Given the description of an element on the screen output the (x, y) to click on. 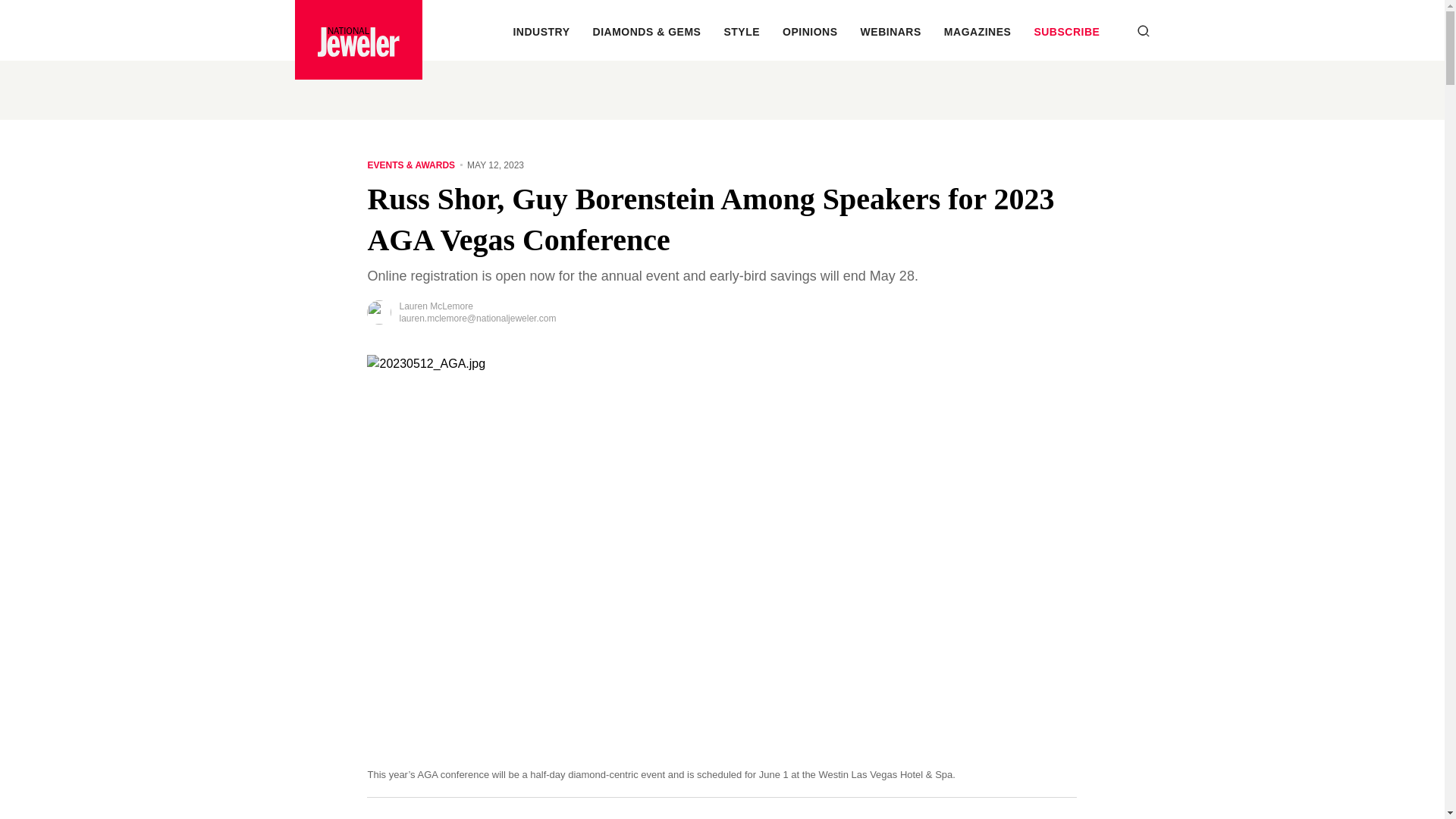
SUBSCRIBE (1066, 31)
INDUSTRY (540, 31)
WEBINARS (890, 31)
MAGAZINES (977, 31)
STYLE (741, 31)
OPINIONS (810, 31)
